Given the description of an element on the screen output the (x, y) to click on. 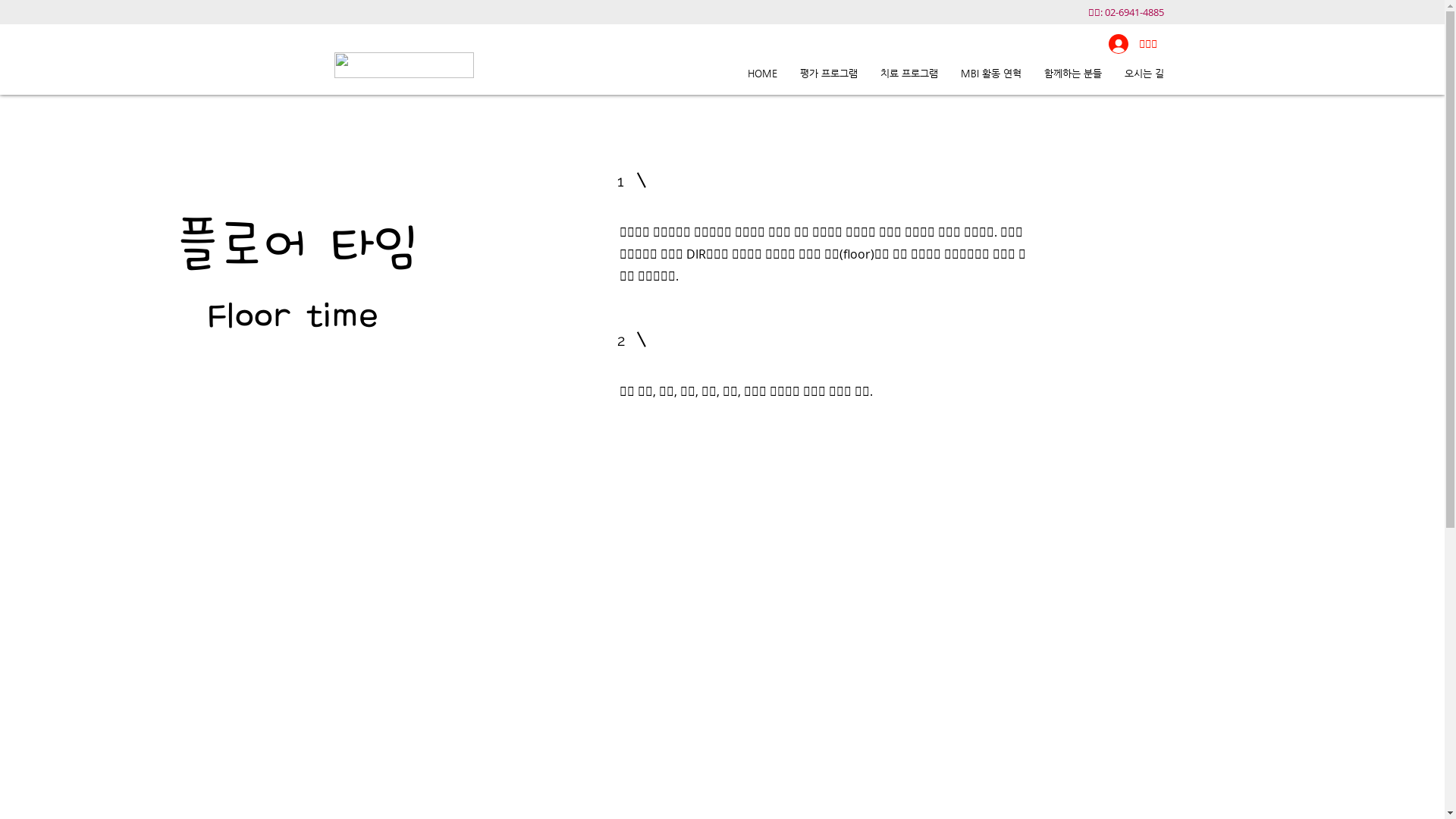
HOME Element type: text (761, 72)
